Given the description of an element on the screen output the (x, y) to click on. 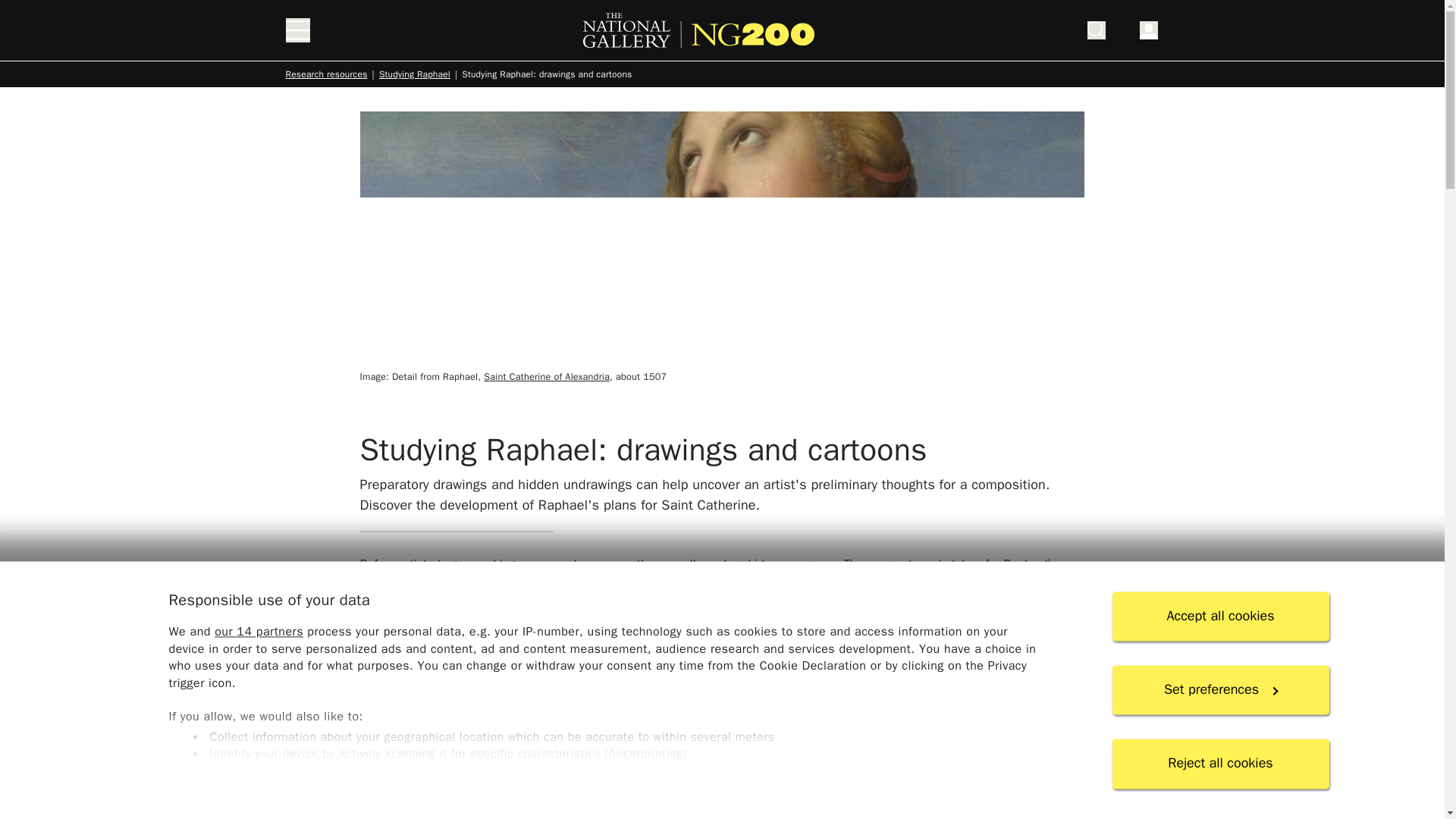
our 14 partners (258, 631)
details section (720, 774)
